Given the description of an element on the screen output the (x, y) to click on. 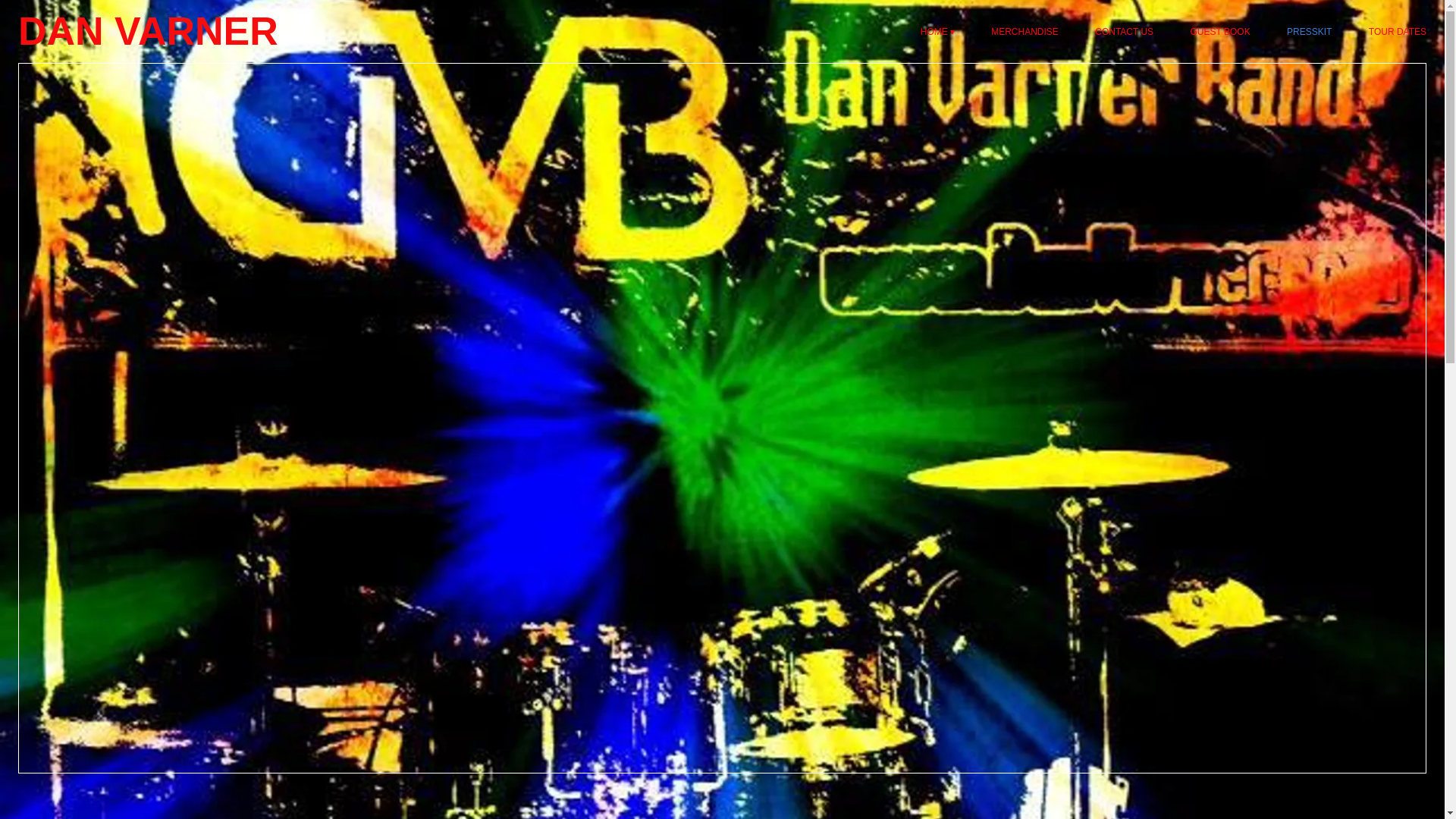
TOUR DATES (1397, 32)
GUEST BOOK (1220, 32)
CONTACT US (1123, 32)
PRESSKIT (1309, 32)
DAN VARNER (147, 31)
MERCHANDISE (1024, 32)
HOME (937, 32)
